Given the description of an element on the screen output the (x, y) to click on. 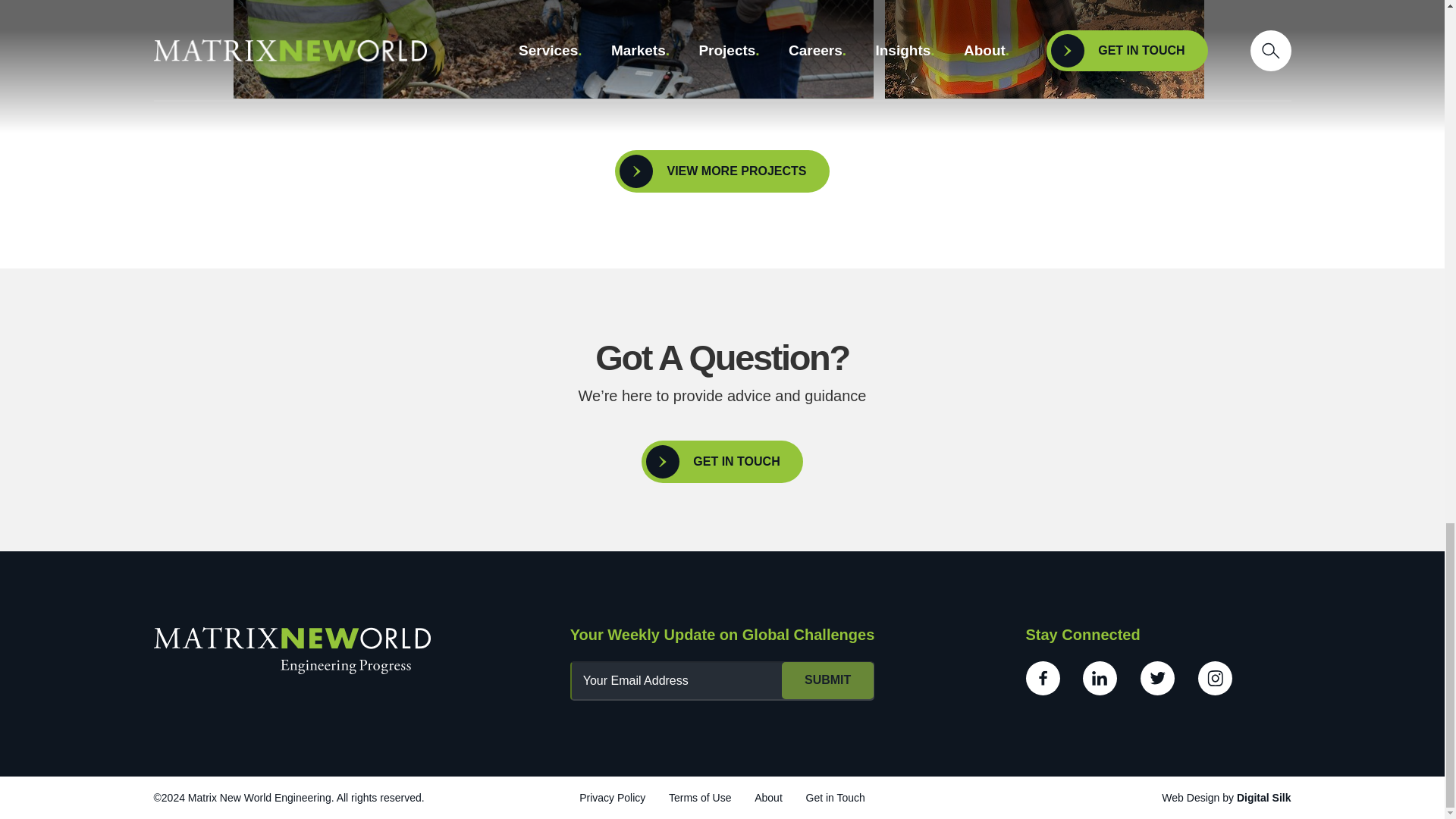
Get in Touch (834, 797)
VIEW MORE PROJECTS (721, 170)
About (768, 797)
Privacy Policy (612, 797)
GET IN TOUCH (722, 461)
Digital Silk (1263, 797)
Terms of Use (699, 797)
Submit (827, 680)
Submit (827, 680)
